Given the description of an element on the screen output the (x, y) to click on. 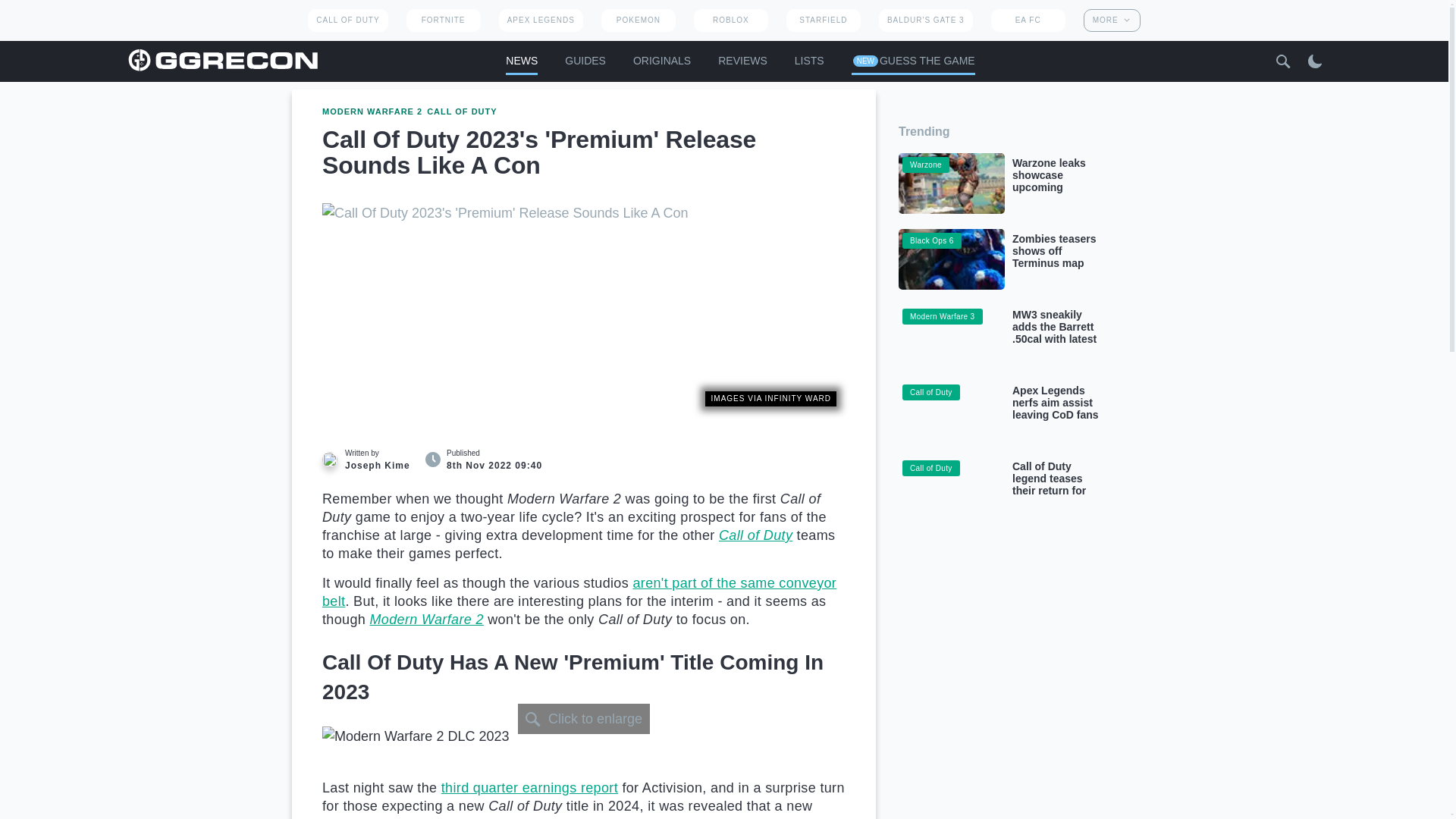
FORTNITE (443, 20)
ROBLOX (731, 20)
Joseph Kime (329, 459)
APEX LEGENDS (541, 20)
STARFIELD (823, 20)
Call Of Duty 2023's 'Premium' Release Sounds Like A Con (583, 309)
CALL OF DUTY (347, 20)
Call of Duty (755, 534)
MORE (1111, 20)
POKEMON (638, 20)
authorlink (369, 459)
BALDUR'S GATE 3 (925, 20)
EA FC (1028, 20)
Modern Warfare 2 (426, 619)
